Given the description of an element on the screen output the (x, y) to click on. 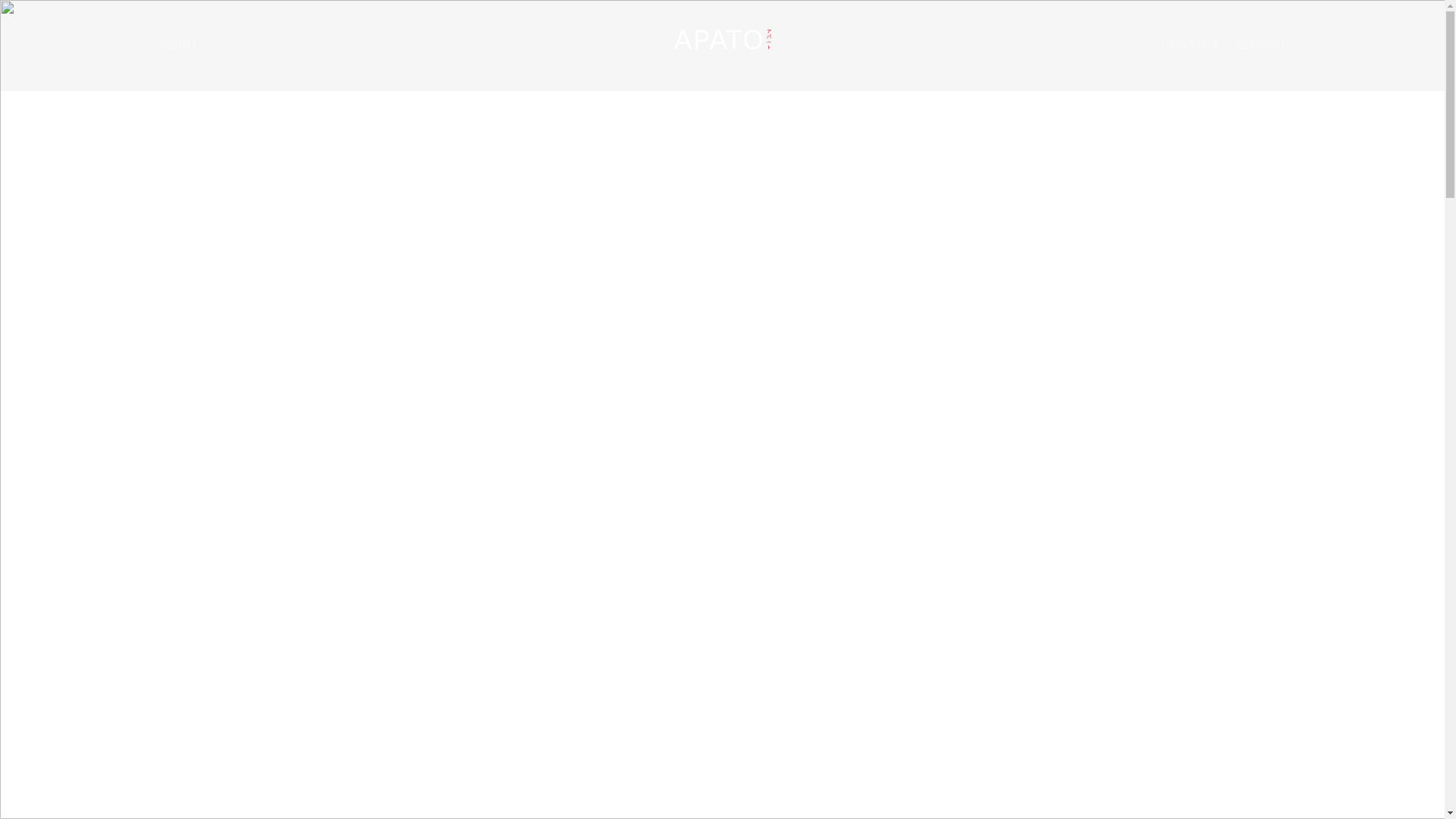
CONTACT (1189, 45)
Subscribe (1209, 535)
MENU (177, 44)
SEARCH (1258, 45)
